Given the description of an element on the screen output the (x, y) to click on. 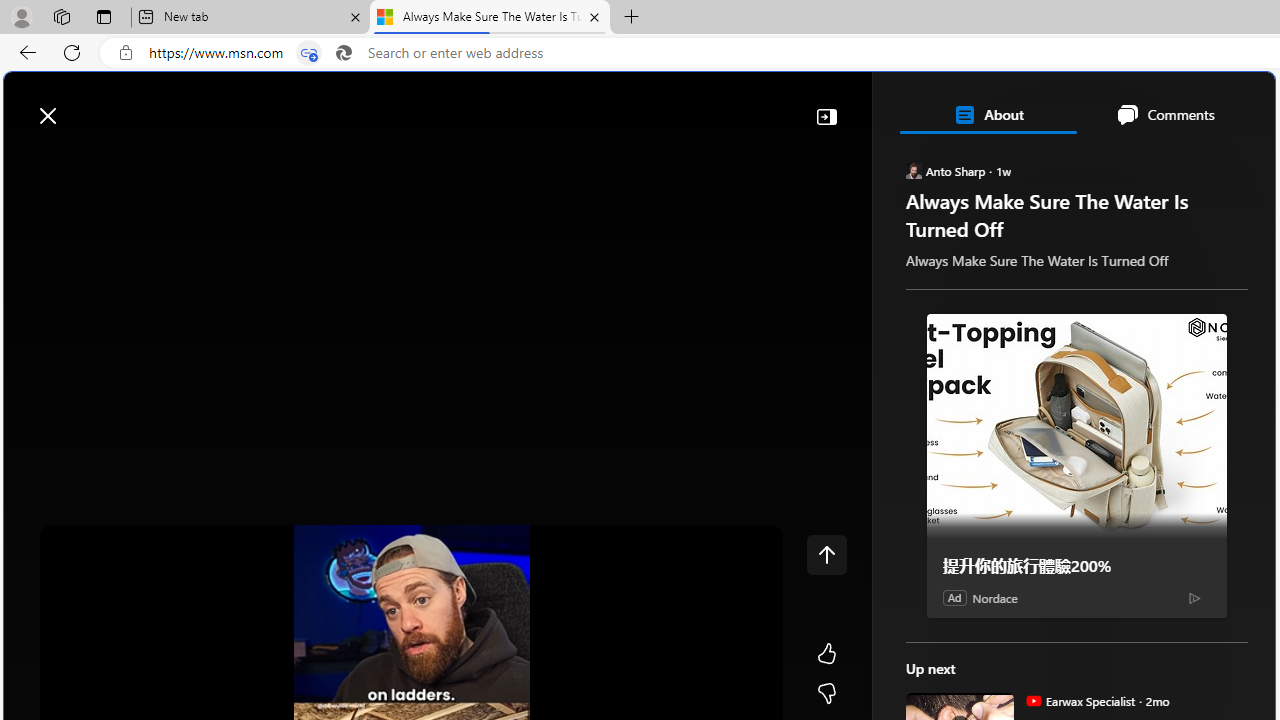
Personalize (1195, 162)
Open navigation menu (29, 162)
Class: button-glyph (29, 162)
Close tab (594, 16)
ABC News (974, 557)
Open Copilot (995, 105)
Web search (283, 105)
Notifications (1190, 105)
Discover (91, 162)
Back (24, 52)
